Given the description of an element on the screen output the (x, y) to click on. 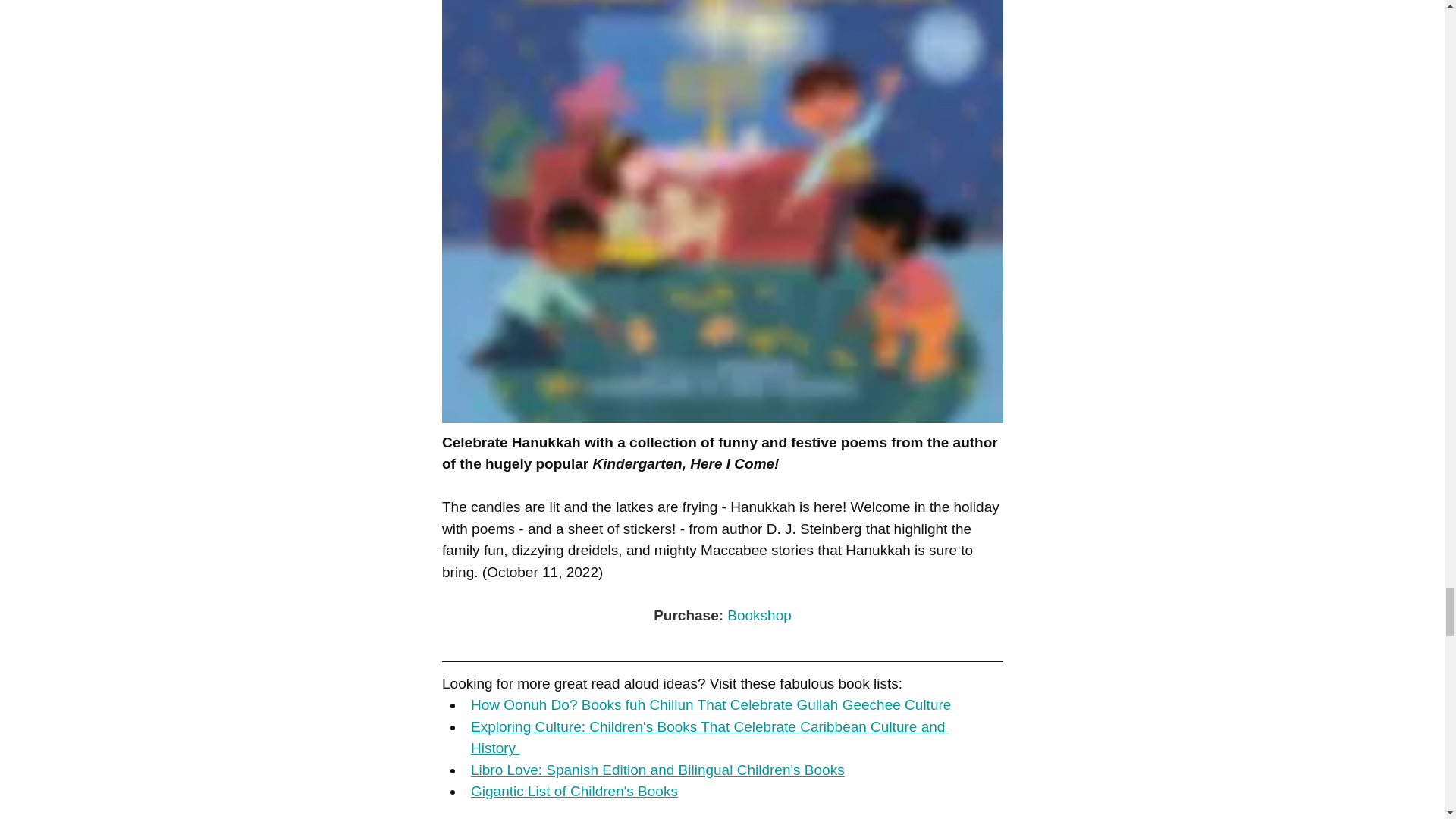
Bookshop (759, 615)
